Given the description of an element on the screen output the (x, y) to click on. 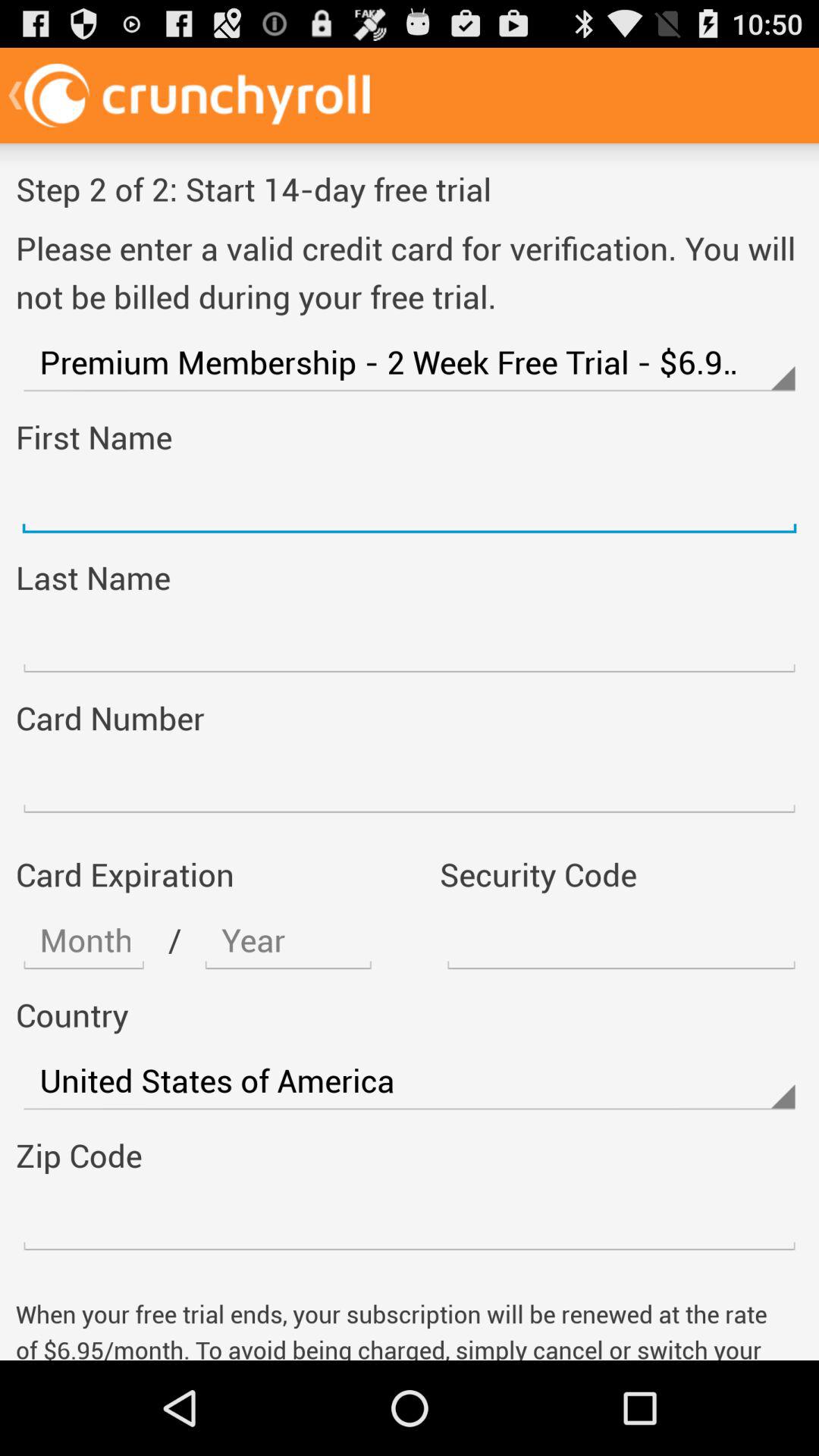
add firs name (409, 502)
